Given the description of an element on the screen output the (x, y) to click on. 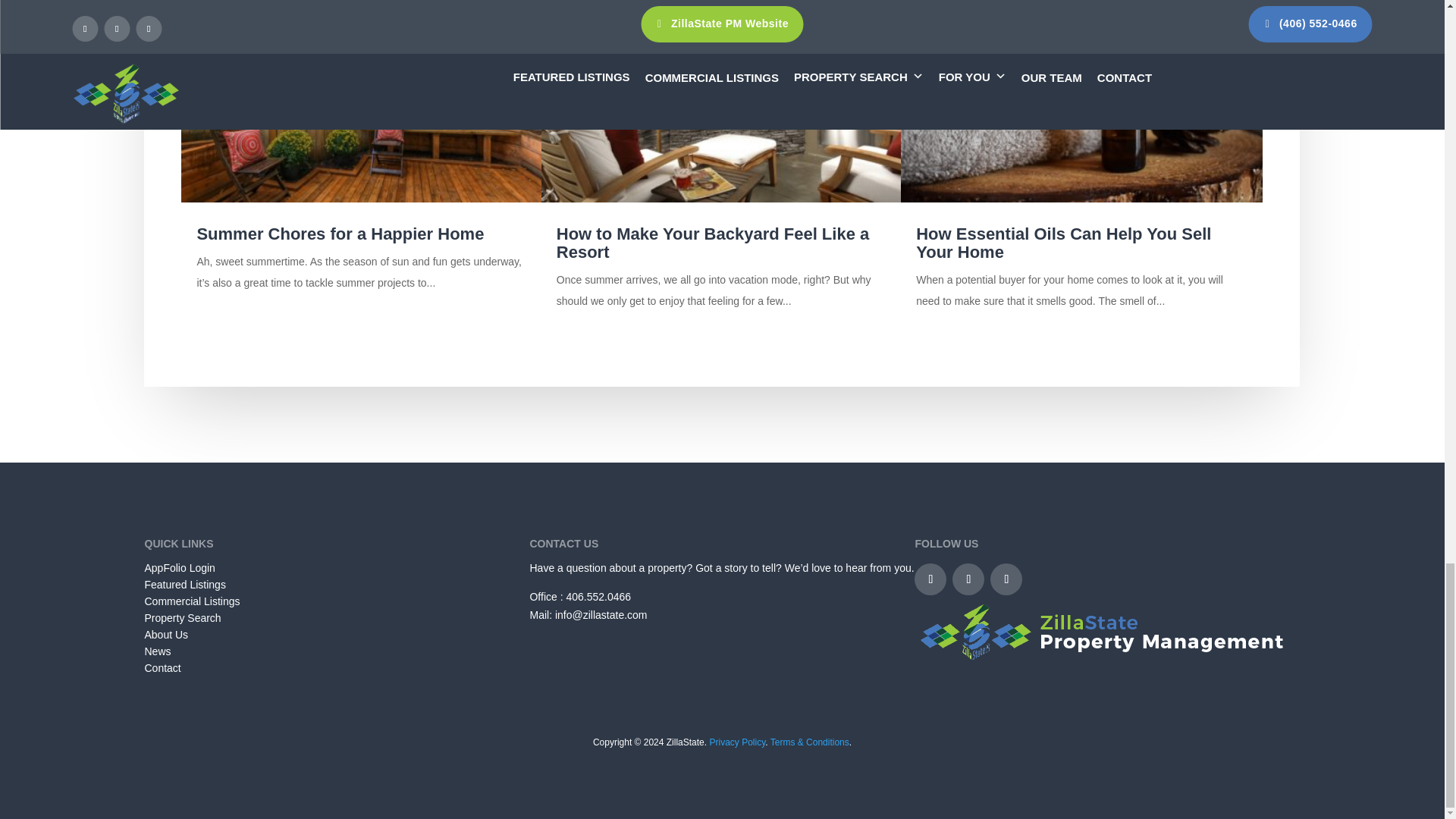
Property Search (182, 617)
Commercial Listings (192, 601)
Contact (162, 667)
How Essential Oils Can Help You Sell Your Home (1063, 242)
AppFolio Login (179, 567)
Summer Chores for a Happier Home (339, 233)
Follow on Facebook (930, 579)
Featured Listings (184, 584)
How to Make Your Backyard Feel Like a Resort (712, 242)
News (157, 651)
Our Team (165, 634)
About Us (165, 634)
